Given the description of an element on the screen output the (x, y) to click on. 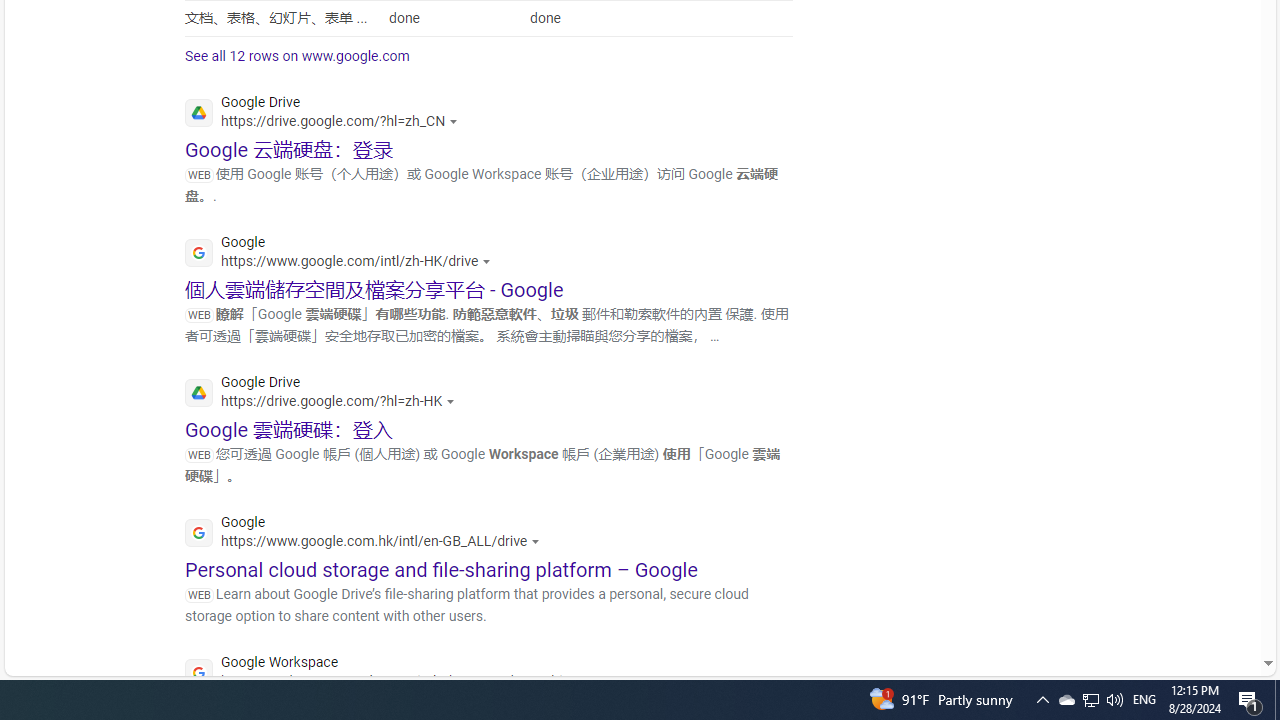
Google Workspace (392, 674)
Global web icon (198, 673)
Search more (1222, 604)
Google (367, 534)
AutomationID: mfa_root (1192, 603)
Google Drive (325, 394)
